Given the description of an element on the screen output the (x, y) to click on. 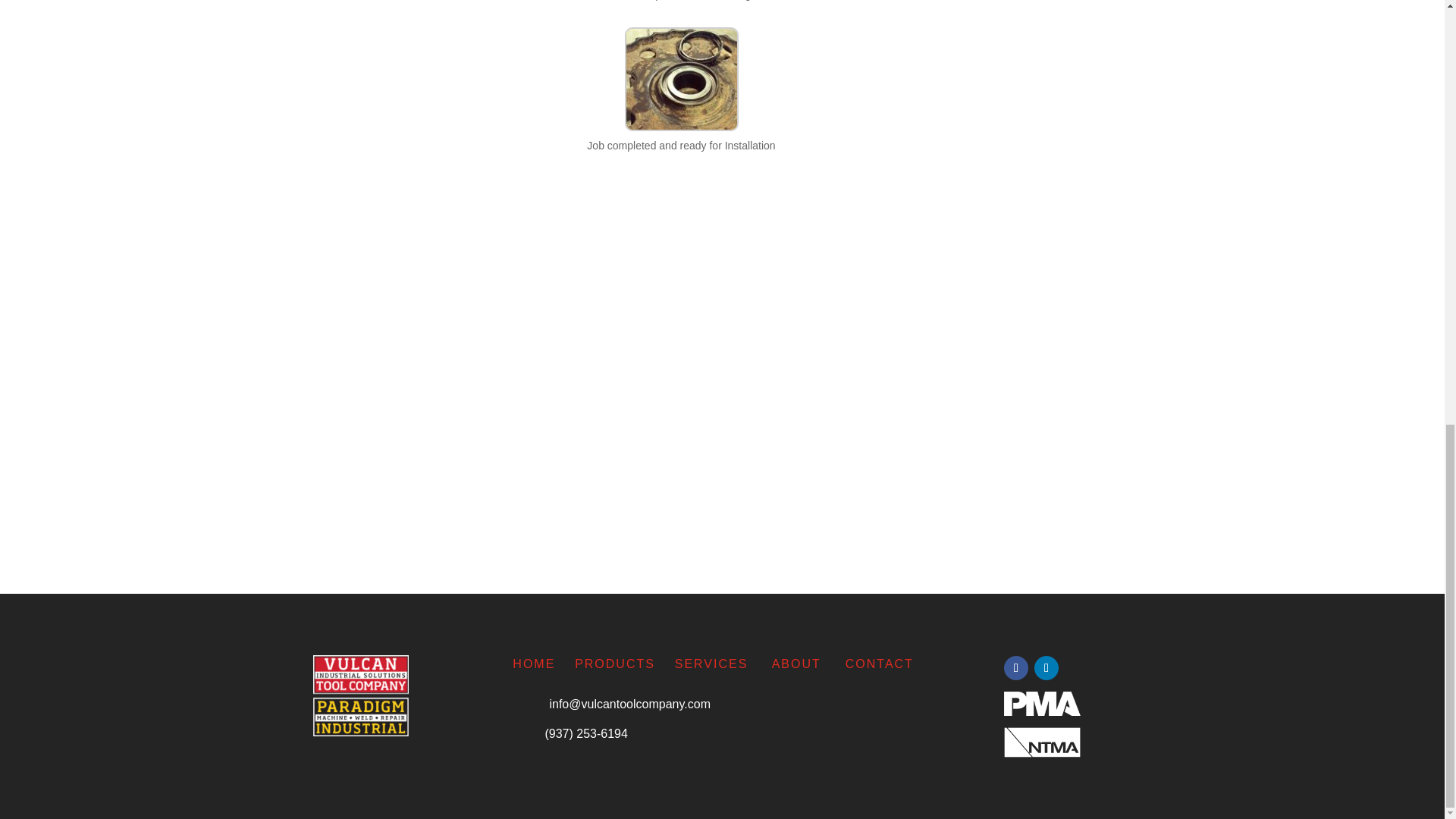
Follow on Facebook (1015, 668)
Follow on LinkedIn (1045, 668)
